Given the description of an element on the screen output the (x, y) to click on. 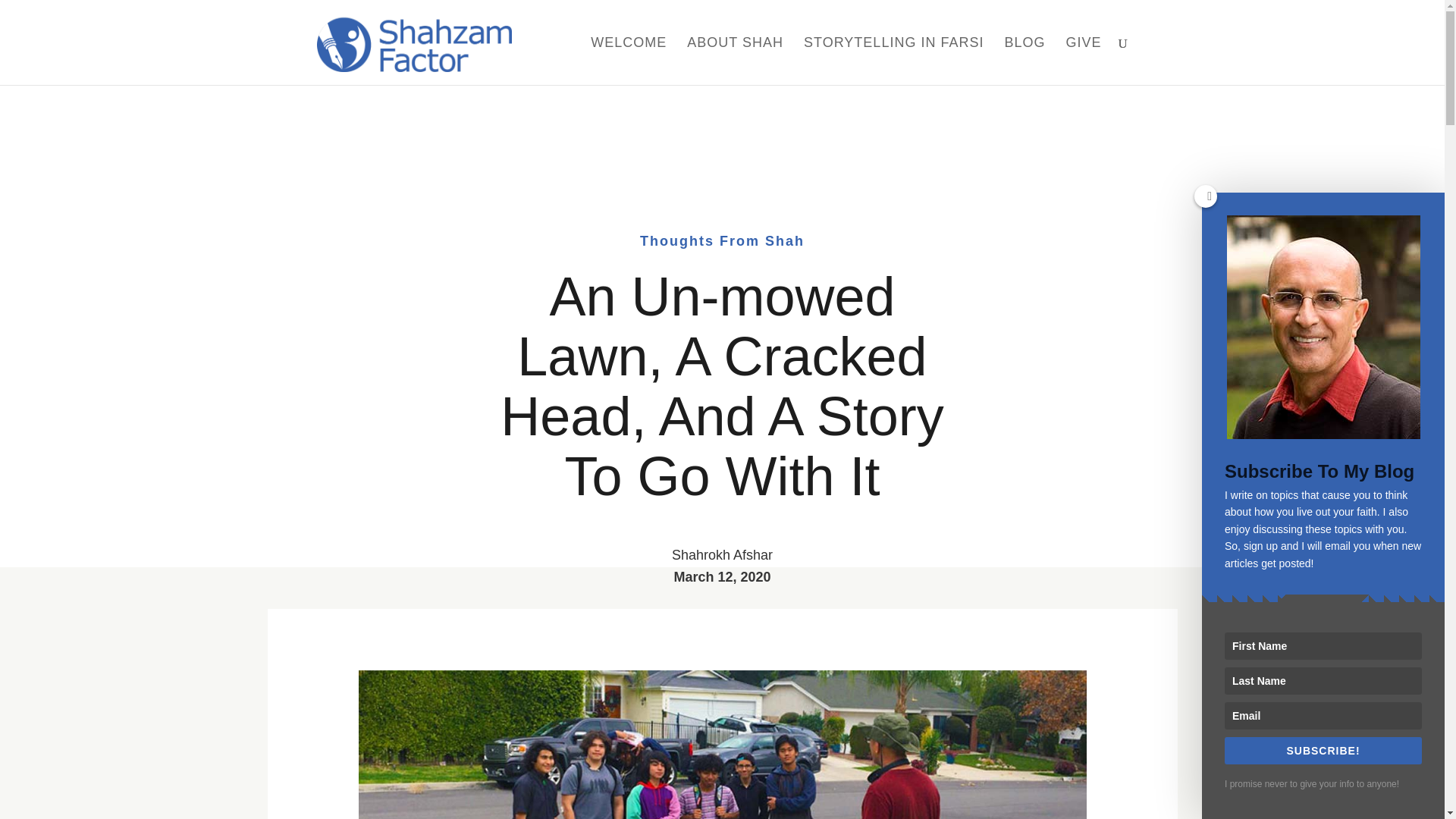
WELCOME (628, 60)
ABOUT SHAH (735, 60)
SUBSCRIBE! (1323, 750)
STORYTELLING IN FARSI (893, 60)
Thoughts From Shah (722, 240)
